Given the description of an element on the screen output the (x, y) to click on. 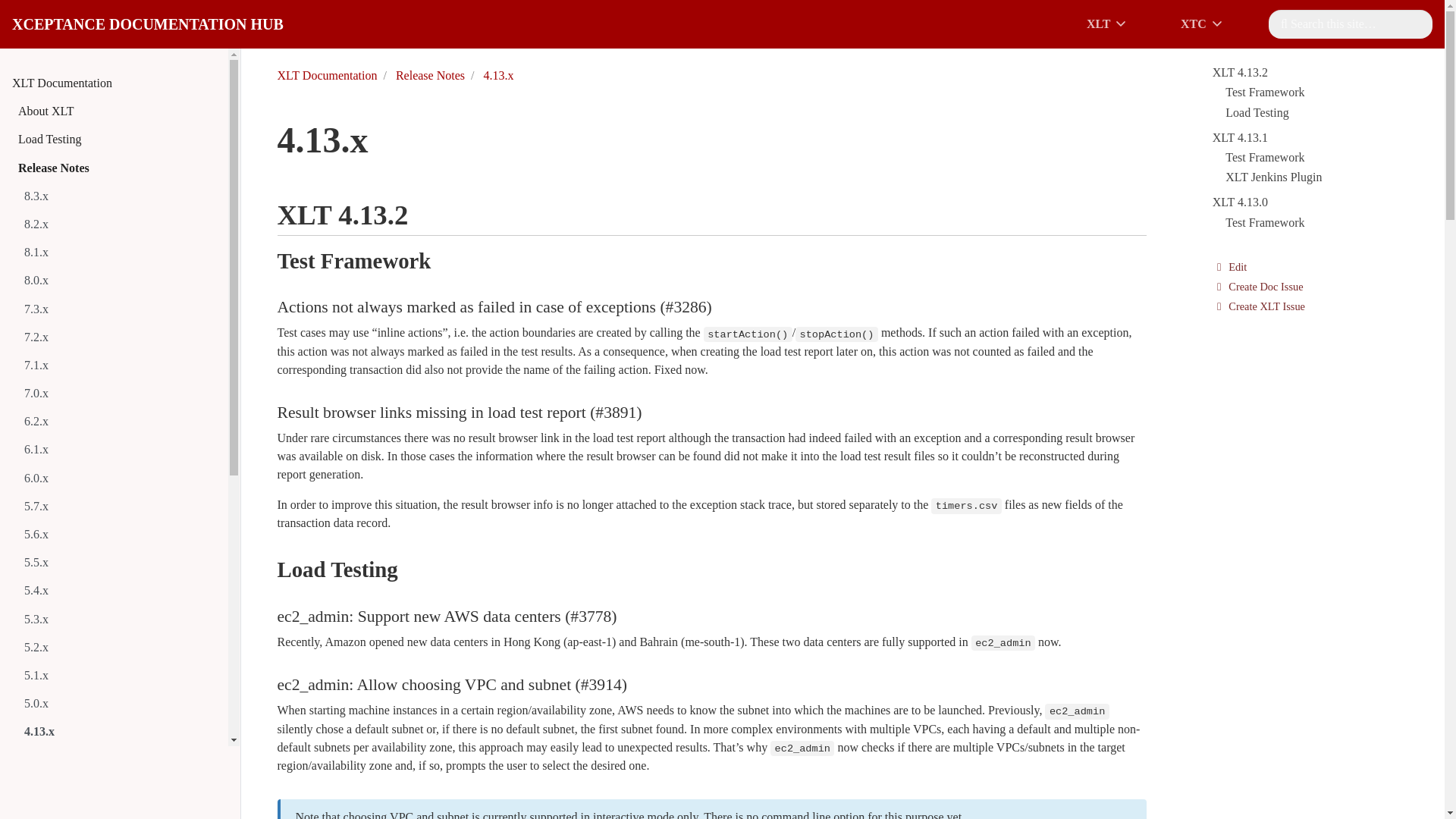
XTC (1212, 23)
XLT Documentation (116, 83)
About XLT (119, 111)
XCEPTANCE DOCUMENTATION HUB (1174, 23)
Load Testing (147, 24)
XLT (119, 139)
